Given the description of an element on the screen output the (x, y) to click on. 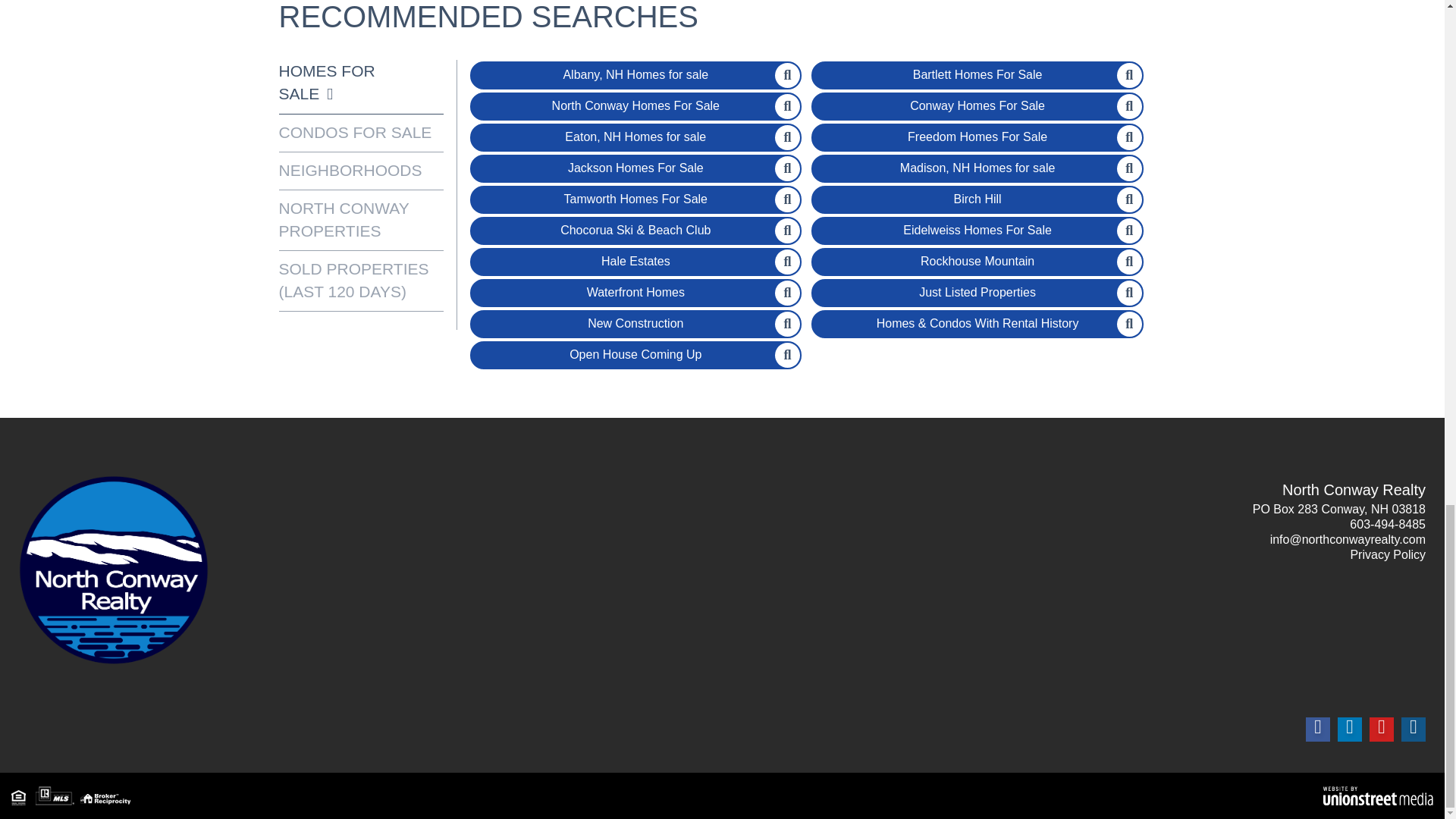
Eaton, NH Homes for sale (636, 137)
Albany, NH Homes for sale (636, 75)
Bartlett Homes For Sale (976, 75)
Conway Homes For Sale (976, 106)
Freedom Homes For Sale (976, 137)
